Given the description of an element on the screen output the (x, y) to click on. 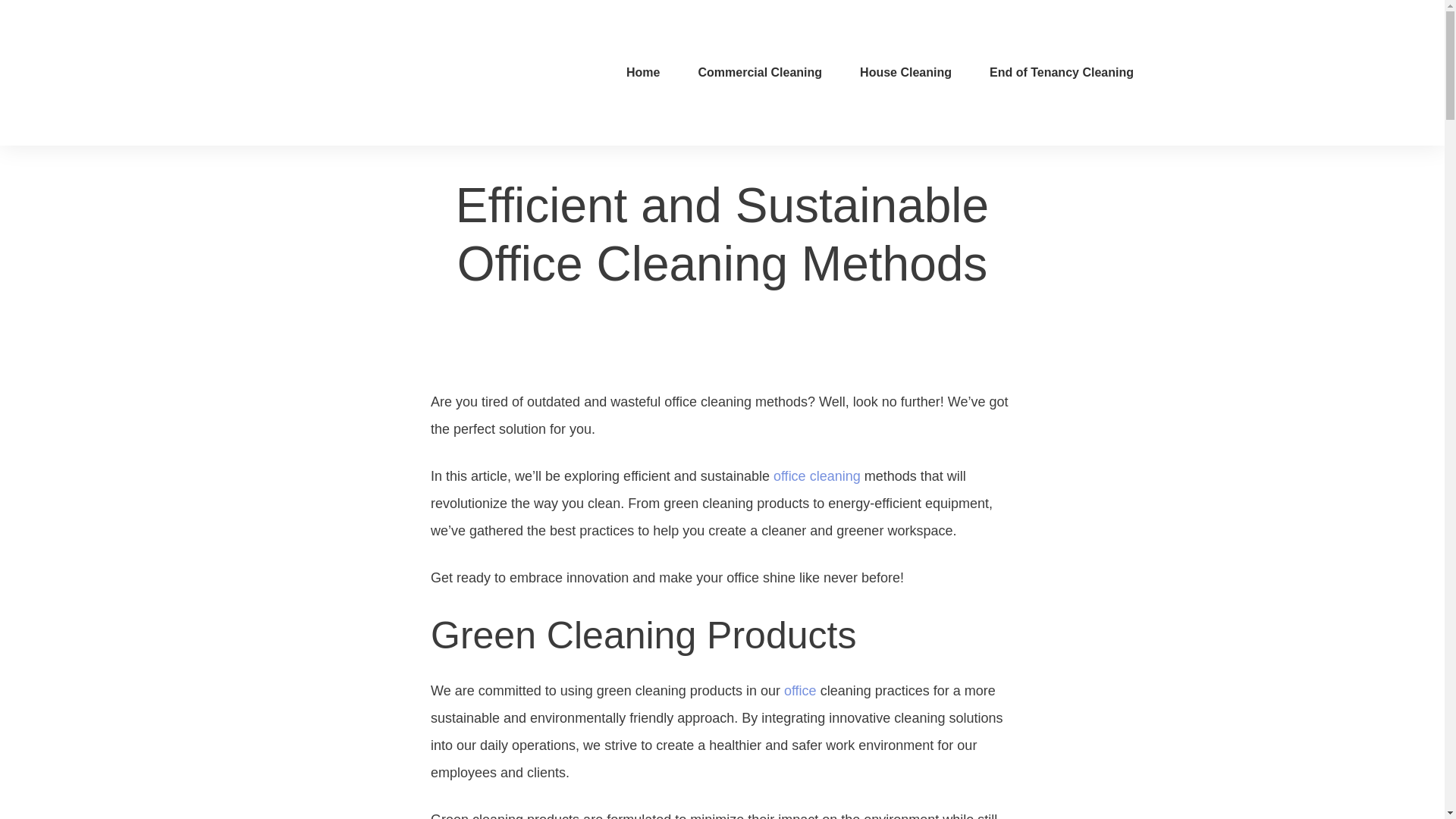
Home (642, 72)
office (800, 690)
office cleaning (816, 476)
office cleaning (816, 476)
House Cleaning (906, 72)
End of Tenancy Cleaning (1062, 72)
Commercial Cleaning (759, 72)
